Given the description of an element on the screen output the (x, y) to click on. 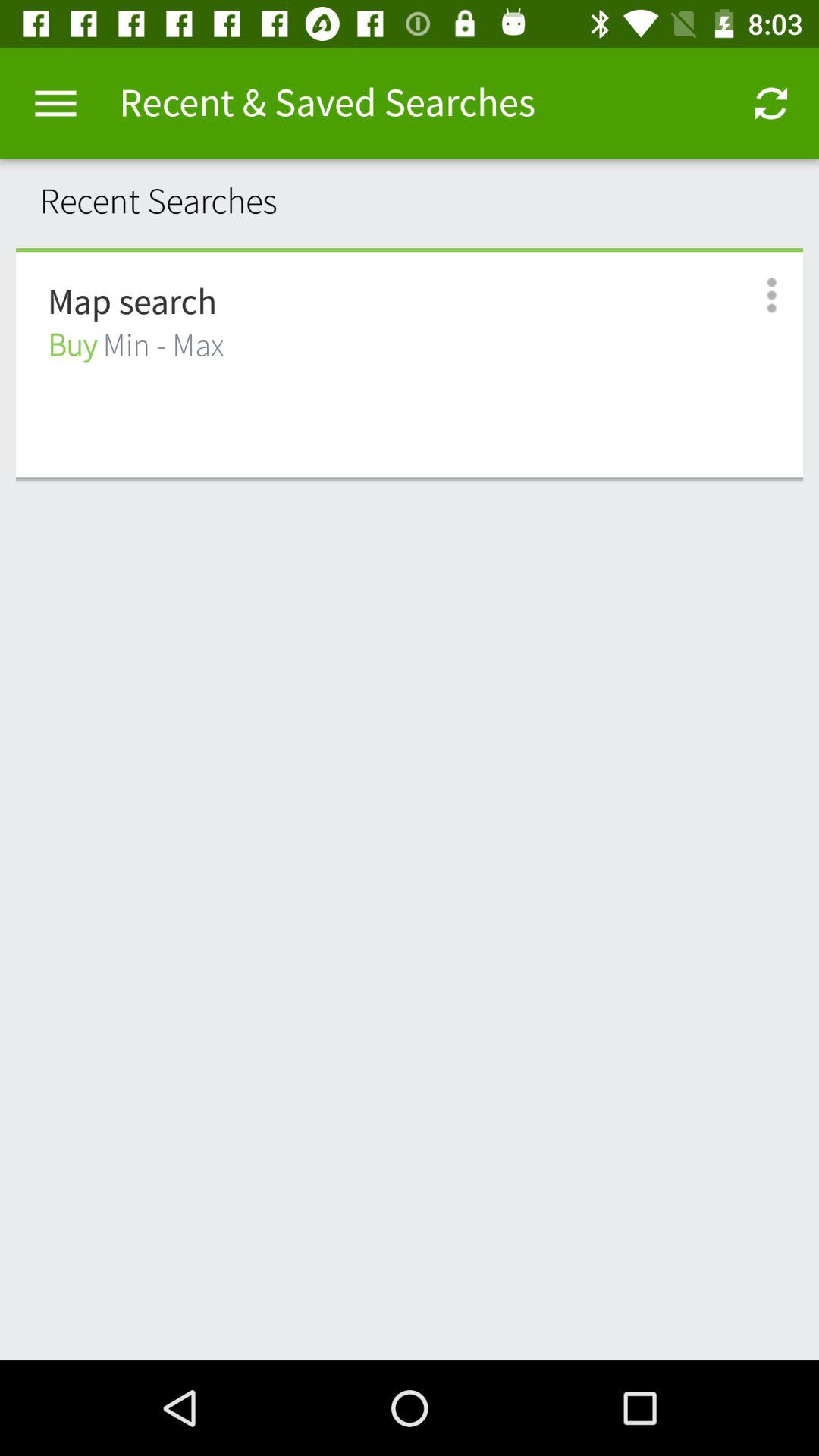
turn on the item above the recent searches item (55, 103)
